Given the description of an element on the screen output the (x, y) to click on. 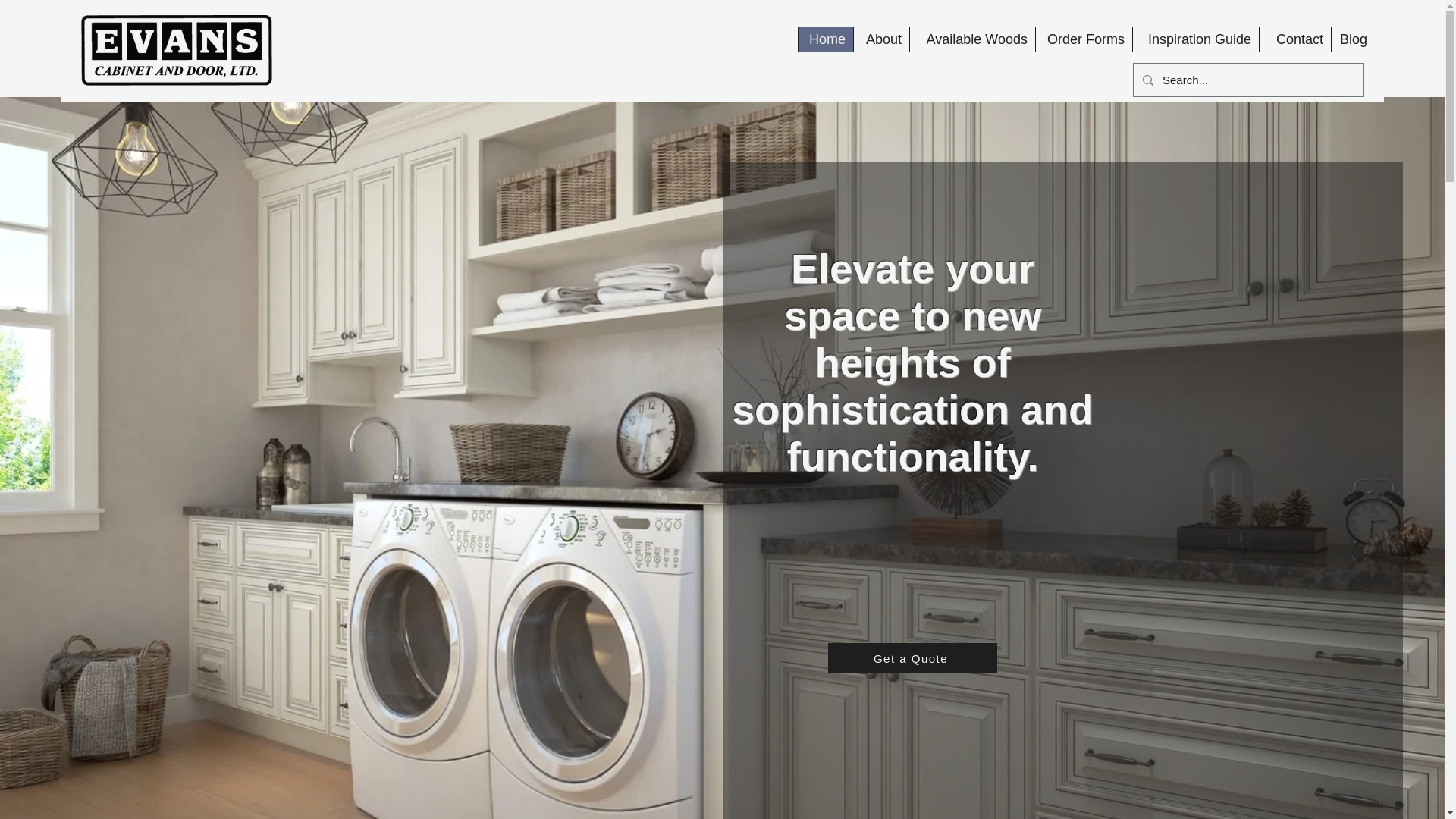
Home (825, 39)
Contact (1294, 39)
Inspiration Guide (1195, 39)
About (880, 39)
Blog (1352, 39)
Get a Quote (912, 657)
Available Woods (971, 39)
Order Forms (1083, 39)
